Given the description of an element on the screen output the (x, y) to click on. 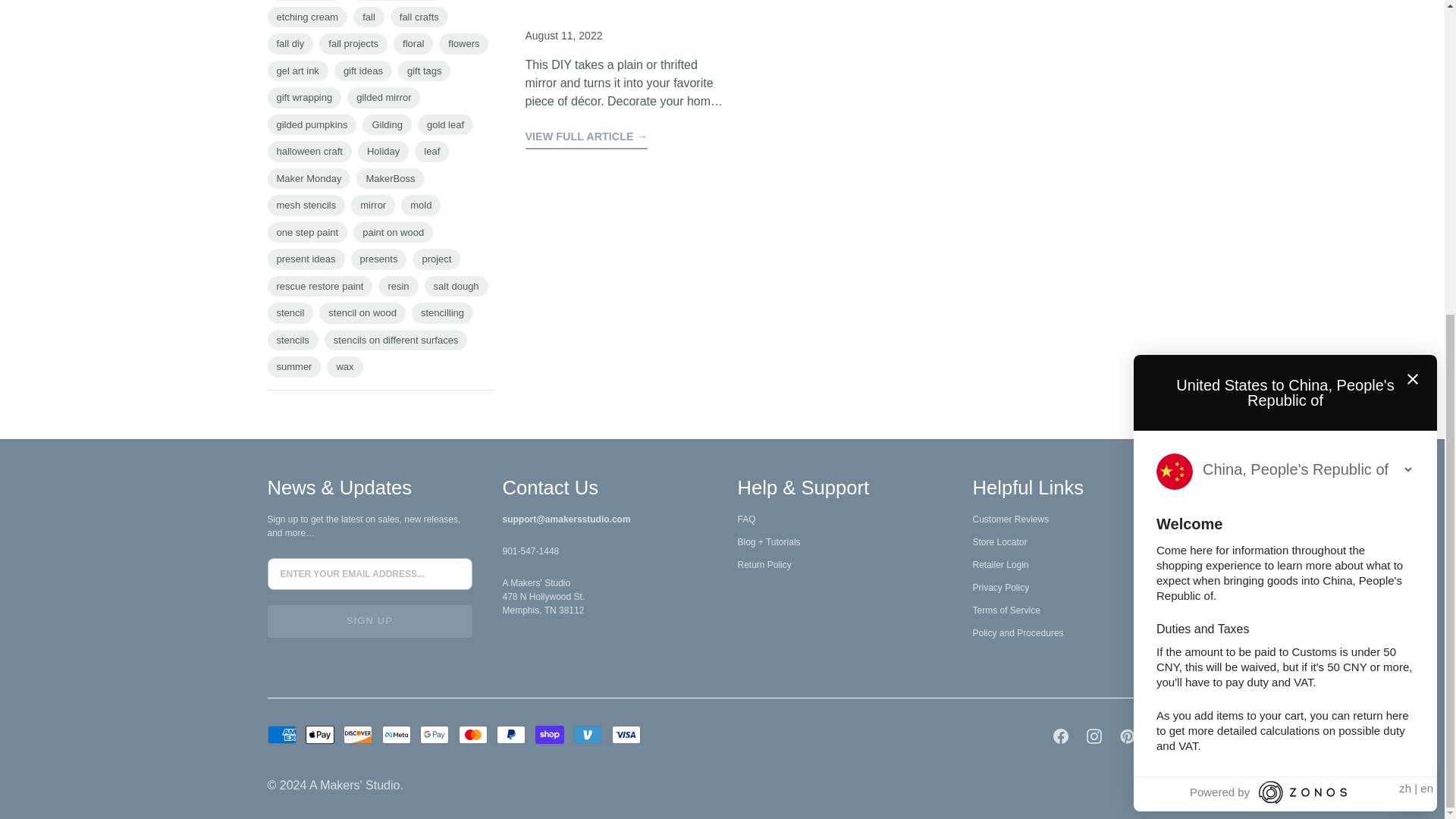
Visa (625, 734)
Open Zonos Hello (1411, 286)
Shop Pay (549, 734)
Venmo (587, 734)
Mastercard (472, 734)
Discover (357, 734)
Meta Pay (395, 734)
American Express (280, 734)
Floral Gilded Mirror (585, 138)
PayPal (510, 734)
Apple Pay (319, 734)
Sign Up (368, 621)
Google Pay (434, 734)
